Given the description of an element on the screen output the (x, y) to click on. 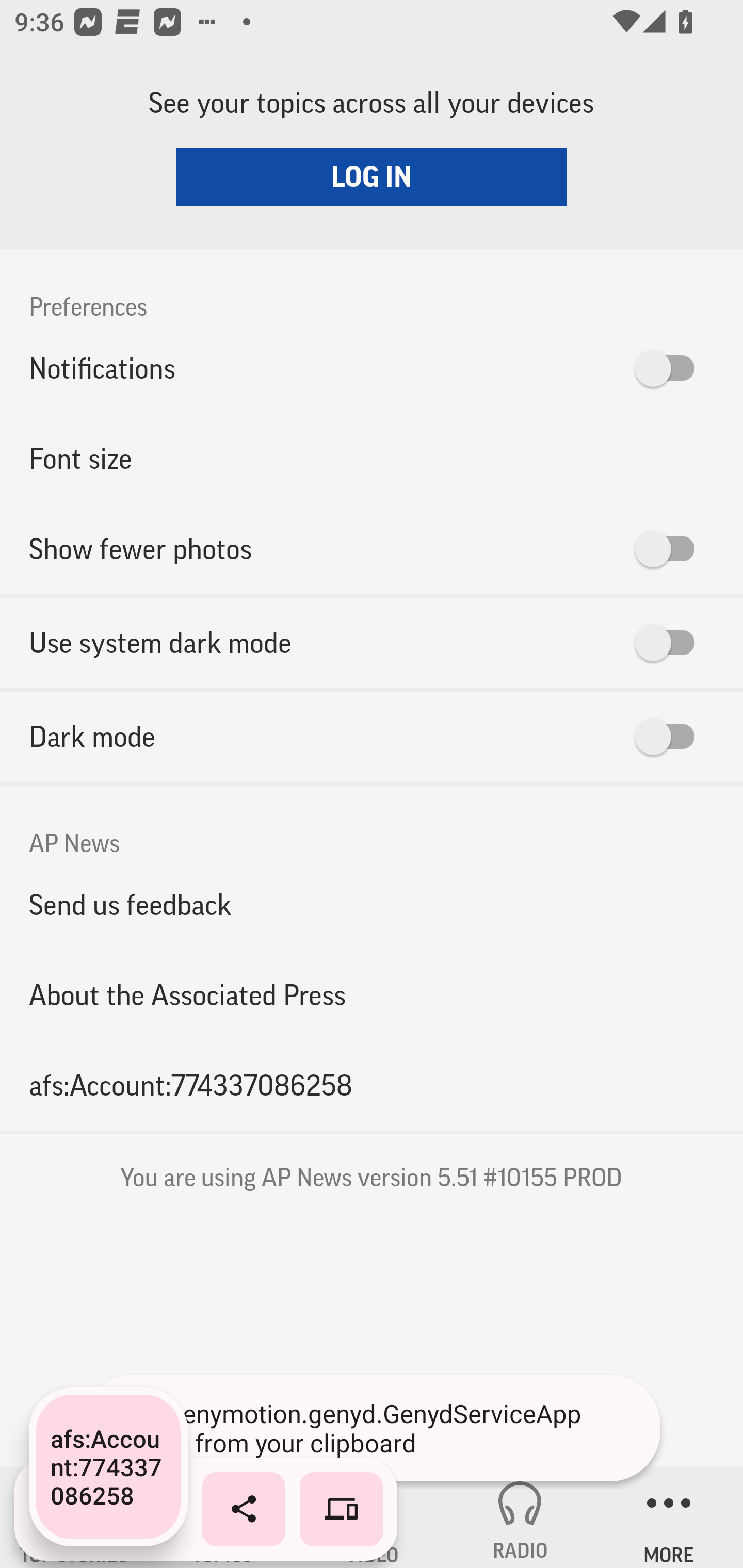
LOG IN (371, 176)
Notifications (371, 368)
Font size (371, 458)
Show fewer photos (371, 548)
Use system dark mode (371, 642)
Dark mode (371, 736)
Send us feedback (371, 904)
About the Associated Press (371, 994)
afs:Account:774337086258 (371, 1084)
TOPICS (222, 1517)
VIDEO (371, 1517)
RADIO (519, 1517)
MORE (668, 1517)
